Given the description of an element on the screen output the (x, y) to click on. 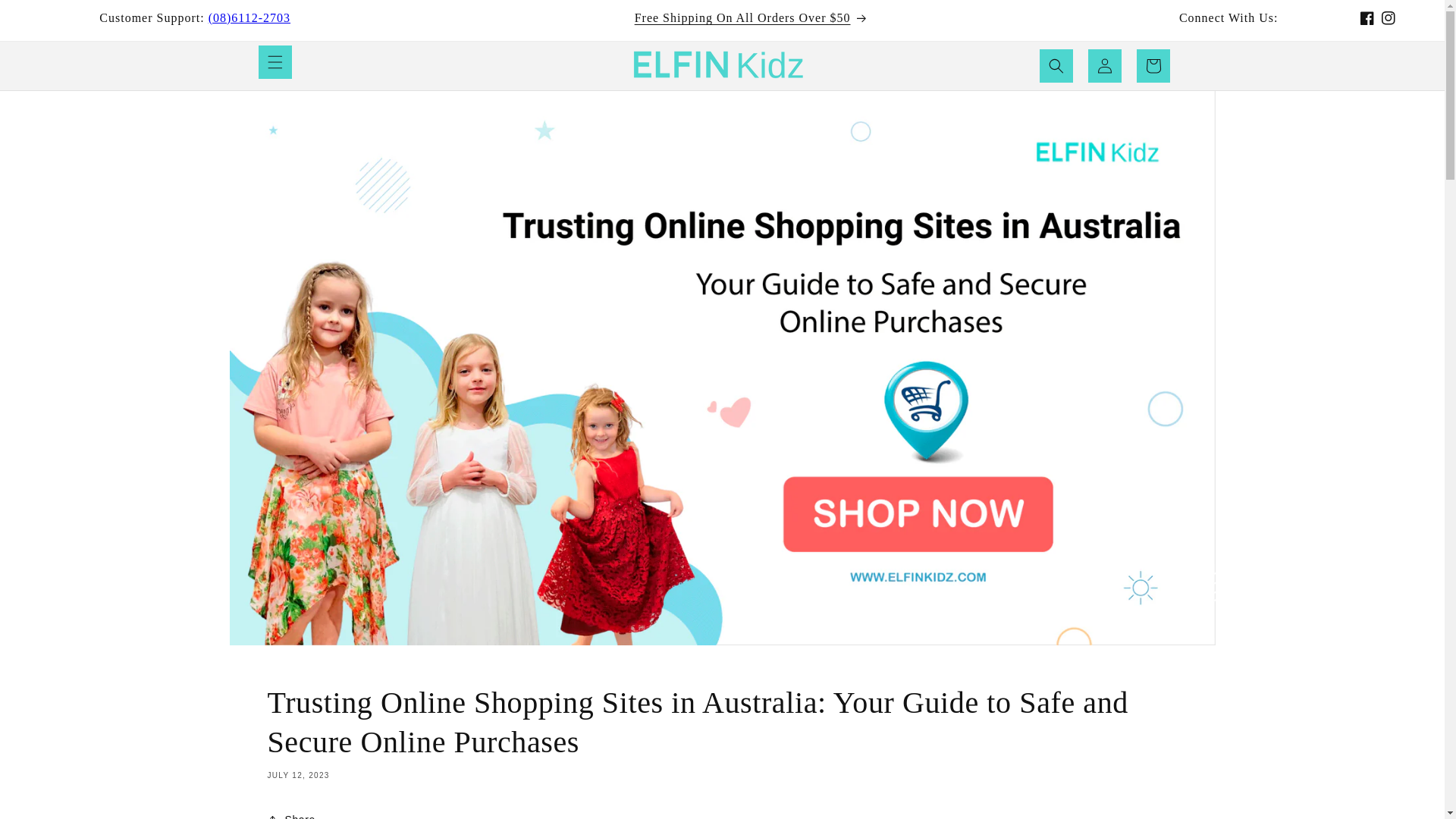
Facebook (1366, 17)
Instagram (1388, 17)
Skip to content (45, 17)
Log in (1104, 65)
